Given the description of an element on the screen output the (x, y) to click on. 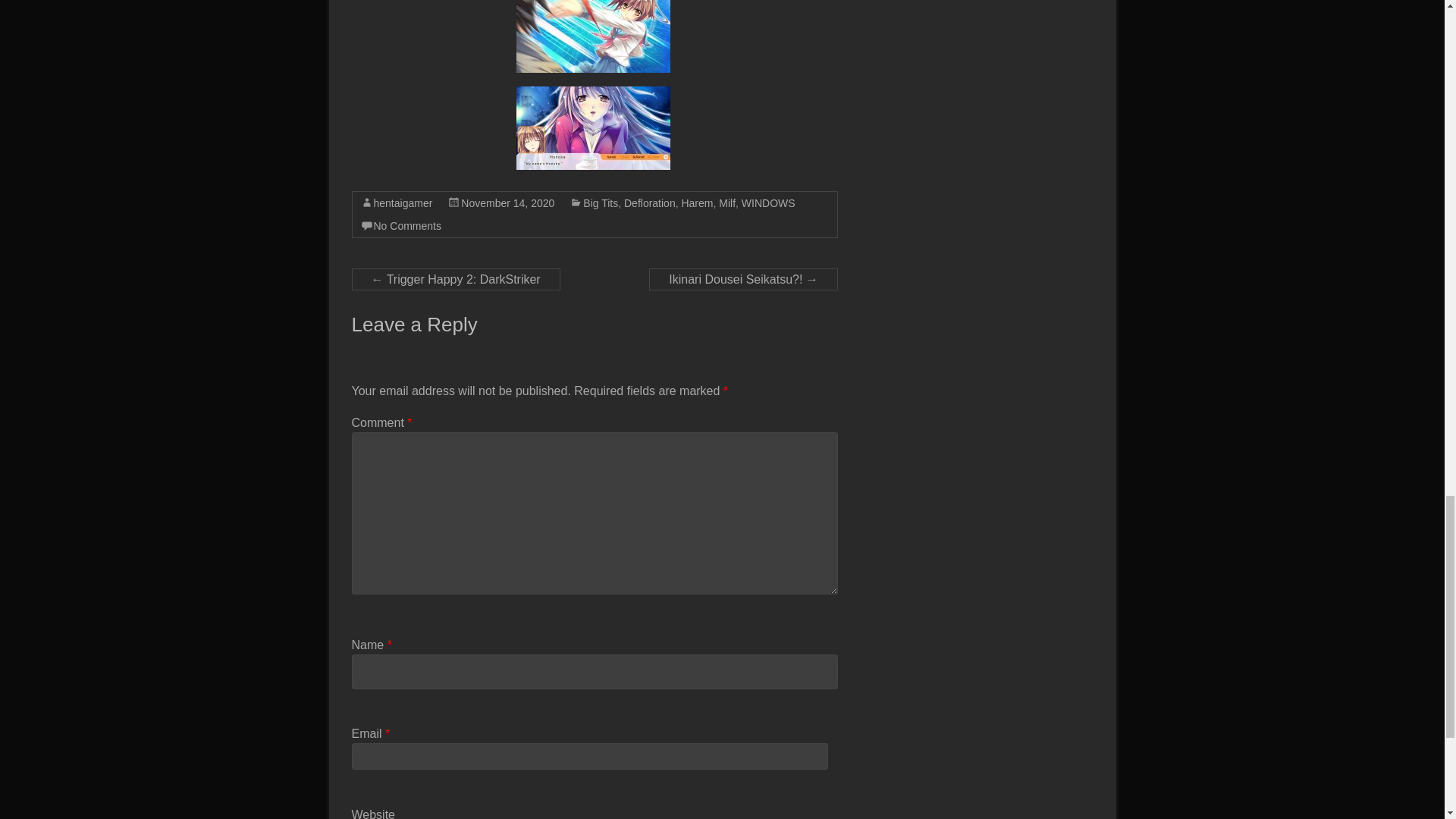
6:08 pm (507, 203)
No Comments (406, 225)
Defloration (649, 203)
November 14, 2020 (507, 203)
Milf (727, 203)
Big Tits (600, 203)
Harem (697, 203)
WINDOWS (767, 203)
hentaigamer (402, 203)
